Given the description of an element on the screen output the (x, y) to click on. 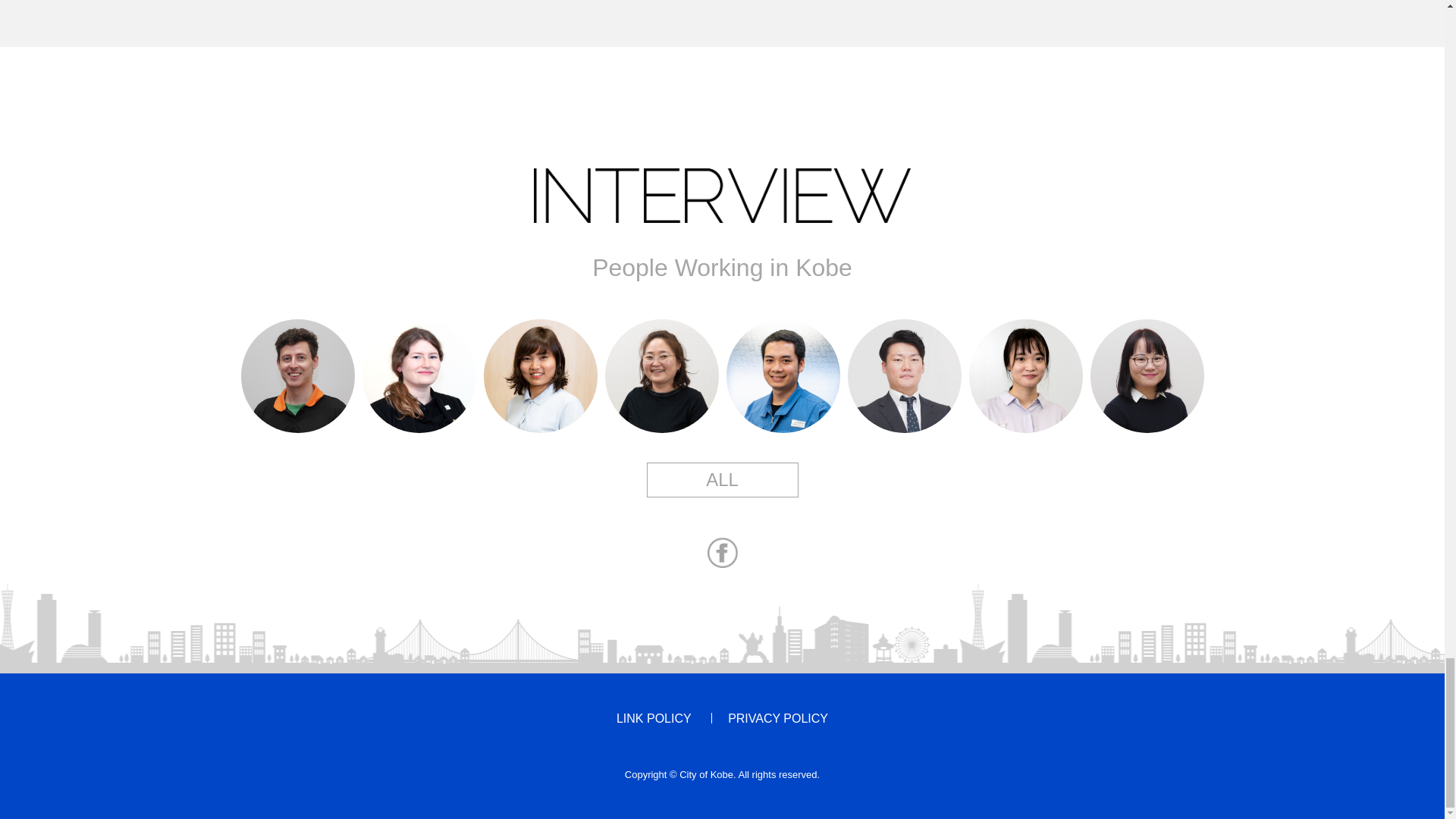
LINK POLICY (653, 718)
PRIVACY POLICY (777, 718)
ALL (721, 479)
